Given the description of an element on the screen output the (x, y) to click on. 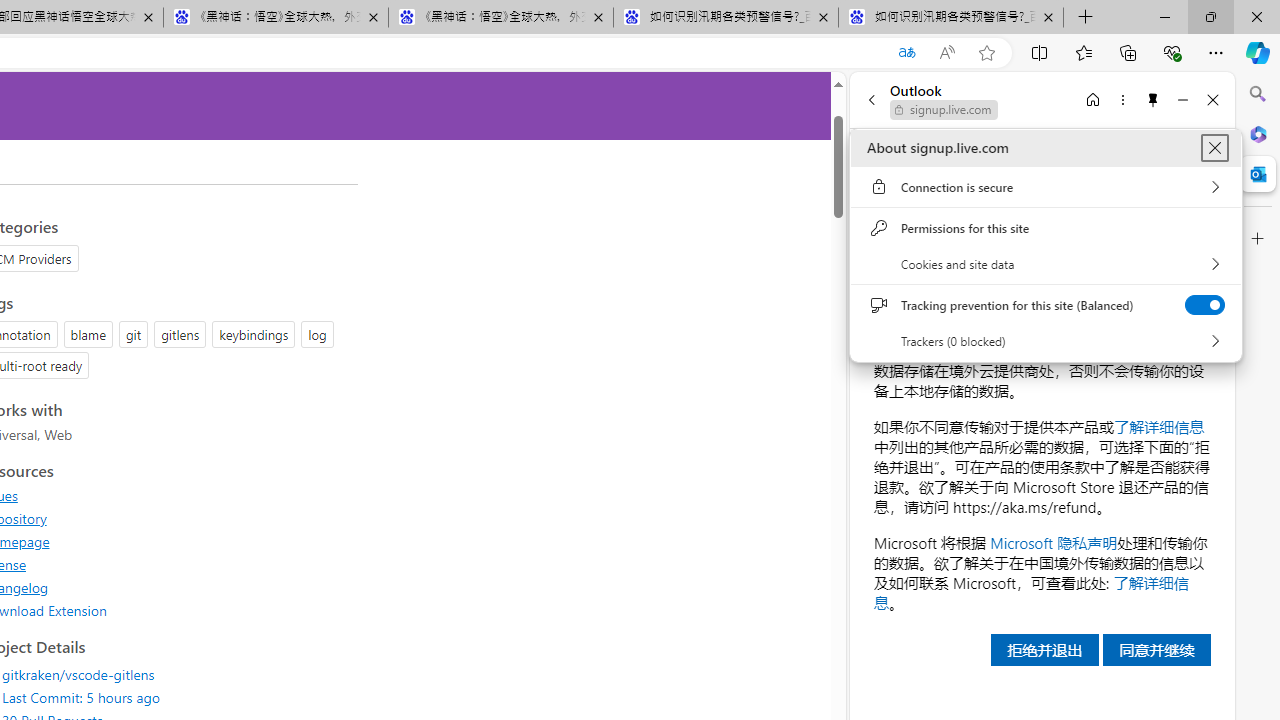
Trackers (0 blocked) (1046, 341)
Connection is secure (1046, 187)
Permissions for this site (1046, 228)
Tracking prevention for this site (Balanced) (1204, 305)
Cookies and site data (1046, 264)
About signup.live.com (1214, 147)
